Given the description of an element on the screen output the (x, y) to click on. 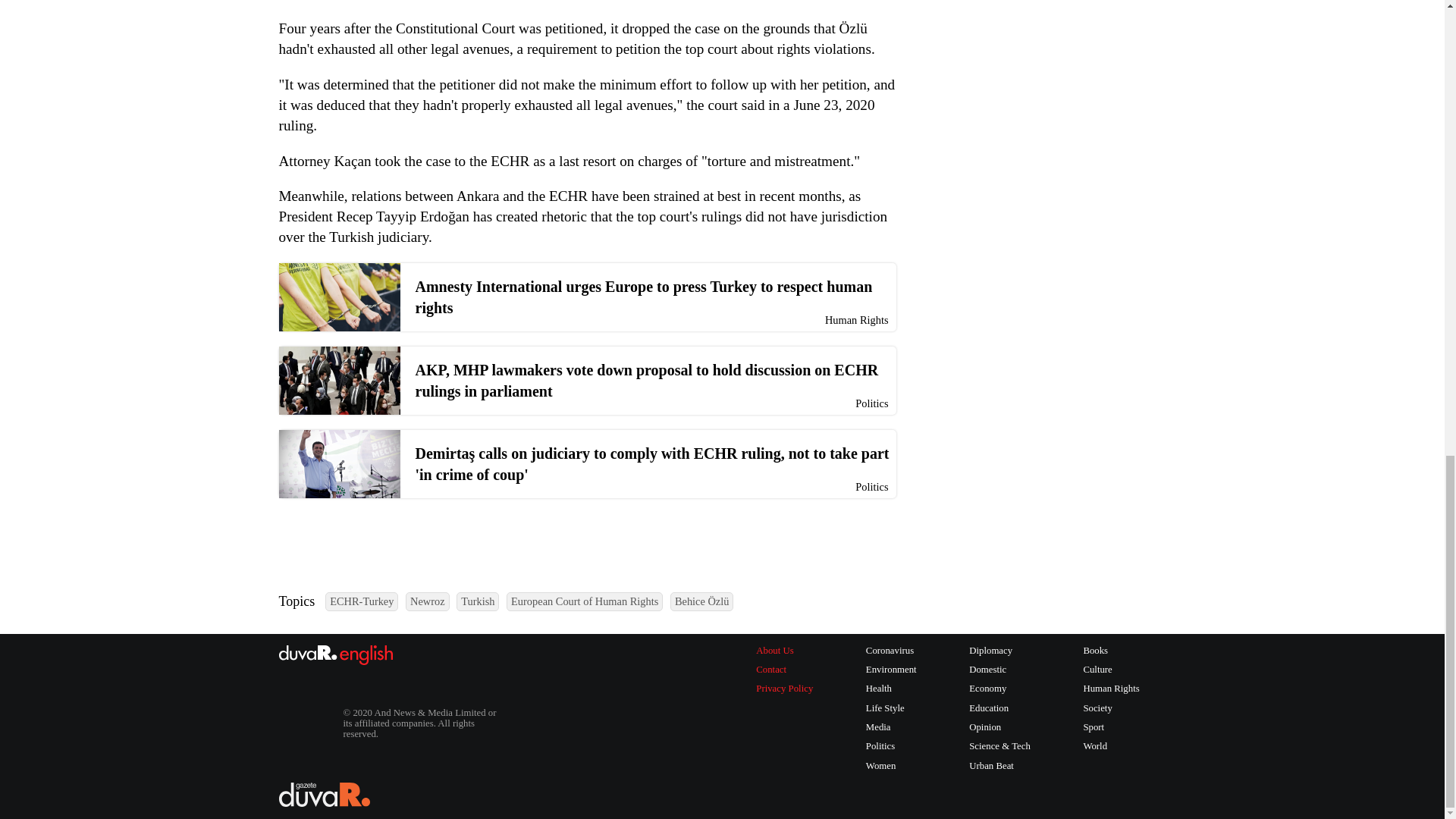
Turkish (478, 601)
European Court of Human Rights (584, 601)
About Us (783, 650)
Newroz (427, 601)
ECHR-Turkey (360, 601)
ECHR-Turkey (360, 601)
Privacy Policy (783, 688)
Contact (783, 669)
Newroz (427, 601)
Environment (891, 669)
Coronavirus (891, 650)
